Given the description of an element on the screen output the (x, y) to click on. 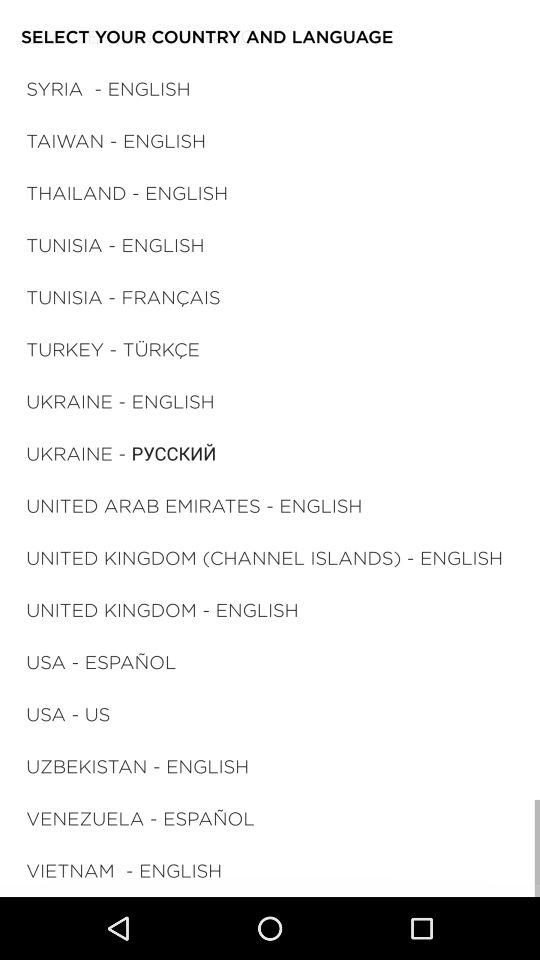
tap item above the ukraine - english (112, 348)
